Given the description of an element on the screen output the (x, y) to click on. 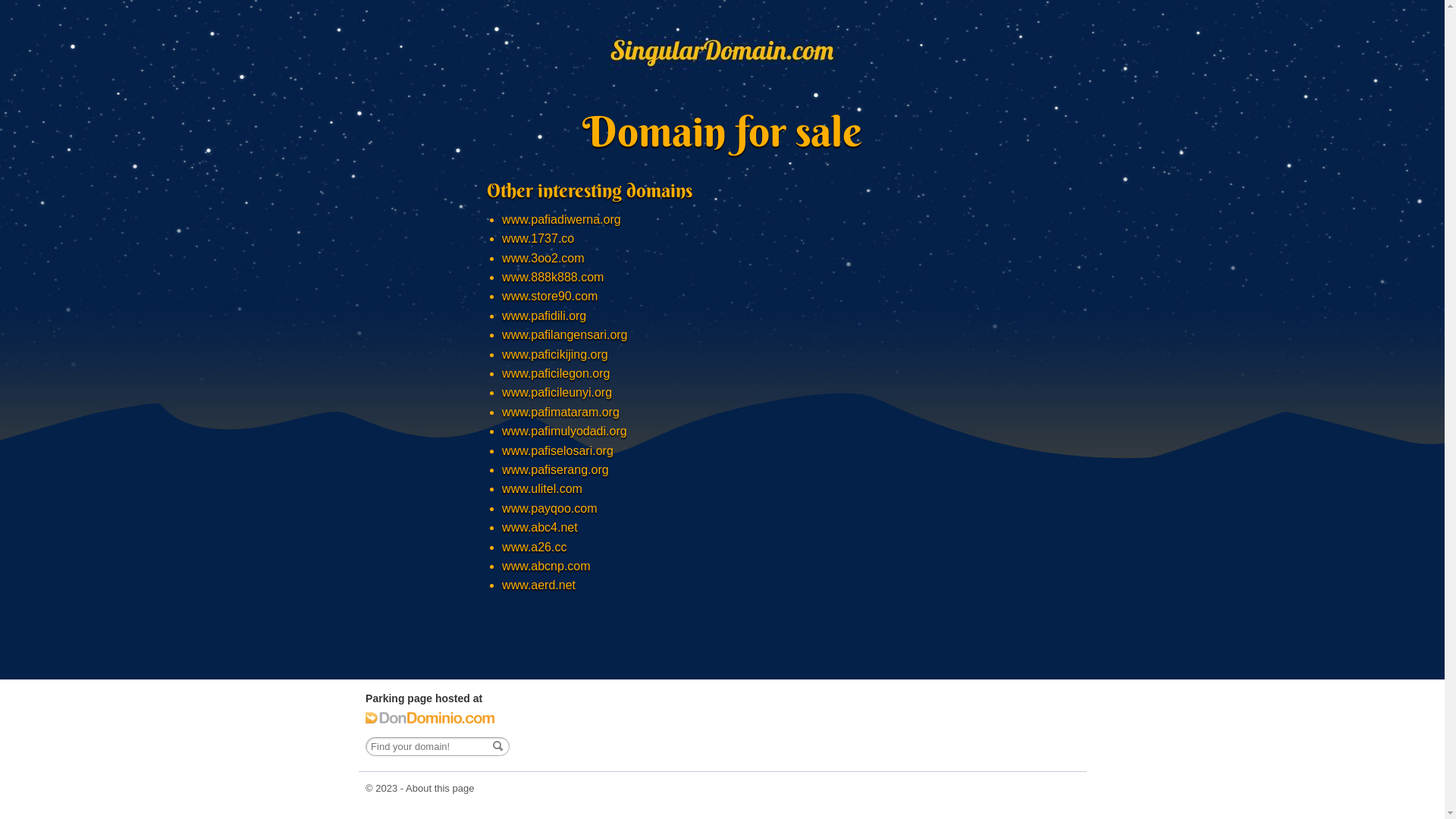
www.pafiselosari.org Element type: text (557, 450)
www.3oo2.com Element type: text (543, 257)
www.abcnp.com Element type: text (546, 565)
www.pafidili.org Element type: text (544, 315)
www.pafiadiwerna.org Element type: text (561, 219)
www.paficikijing.org Element type: text (555, 354)
www.abc4.net Element type: text (539, 526)
www.888k888.com Element type: text (552, 276)
www.a26.cc Element type: text (534, 546)
www.pafiserang.org Element type: text (555, 469)
www.paficileunyi.org Element type: text (556, 391)
www.1737.co Element type: text (538, 238)
www.pafimulyodadi.org Element type: text (564, 430)
www.pafimataram.org Element type: text (560, 411)
www.payqoo.com Element type: text (549, 508)
www.paficilegon.org Element type: text (555, 373)
www.aerd.net Element type: text (538, 584)
www.pafilangensari.org Element type: text (564, 334)
www.ulitel.com Element type: text (542, 488)
www.store90.com Element type: text (549, 295)
About this page Element type: text (439, 787)
